Given the description of an element on the screen output the (x, y) to click on. 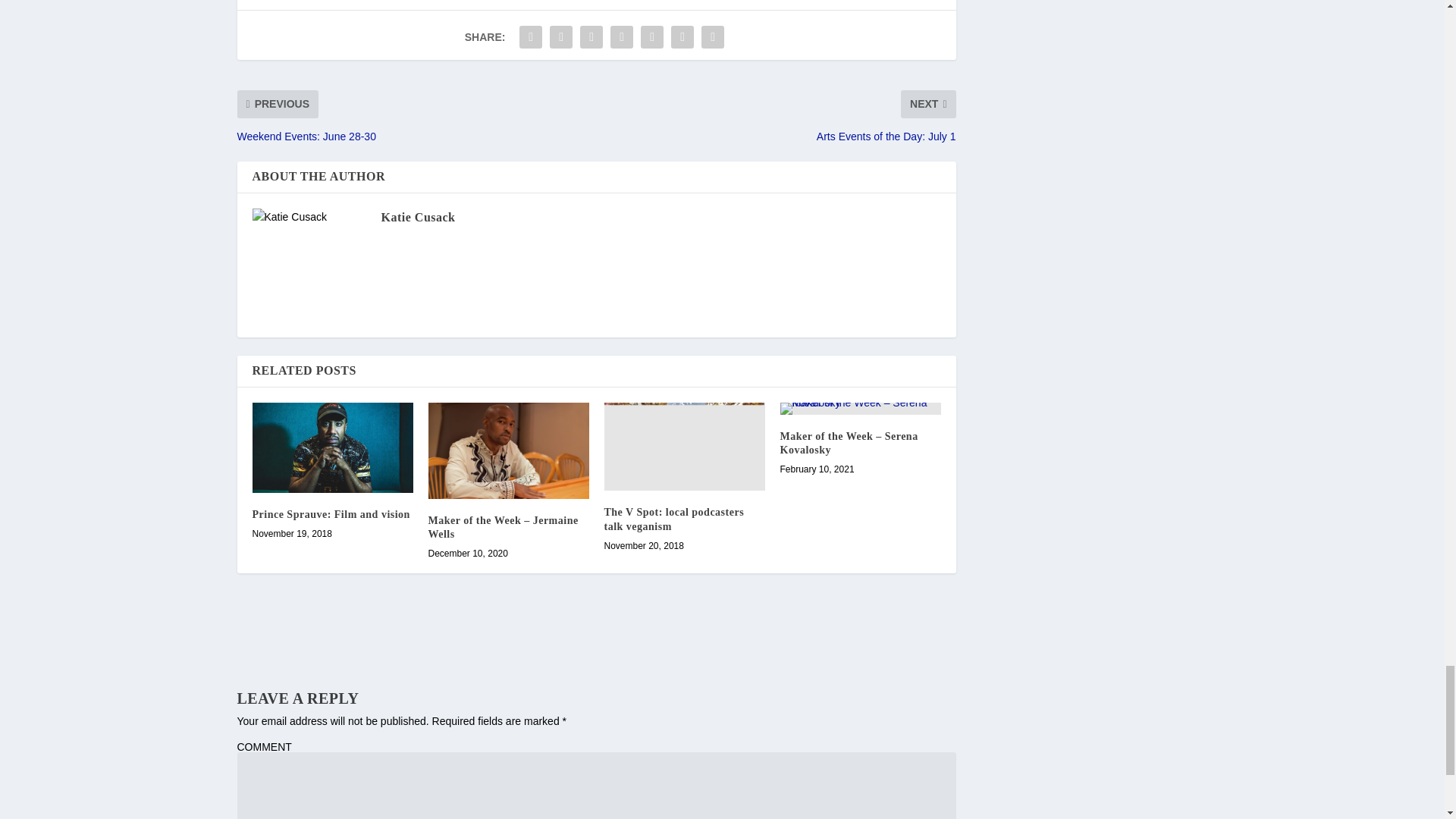
View all posts by Katie Cusack (417, 216)
The V Spot: local podcasters talk veganism (684, 446)
Prince Sprauve: Film and vision (331, 447)
